Given the description of an element on the screen output the (x, y) to click on. 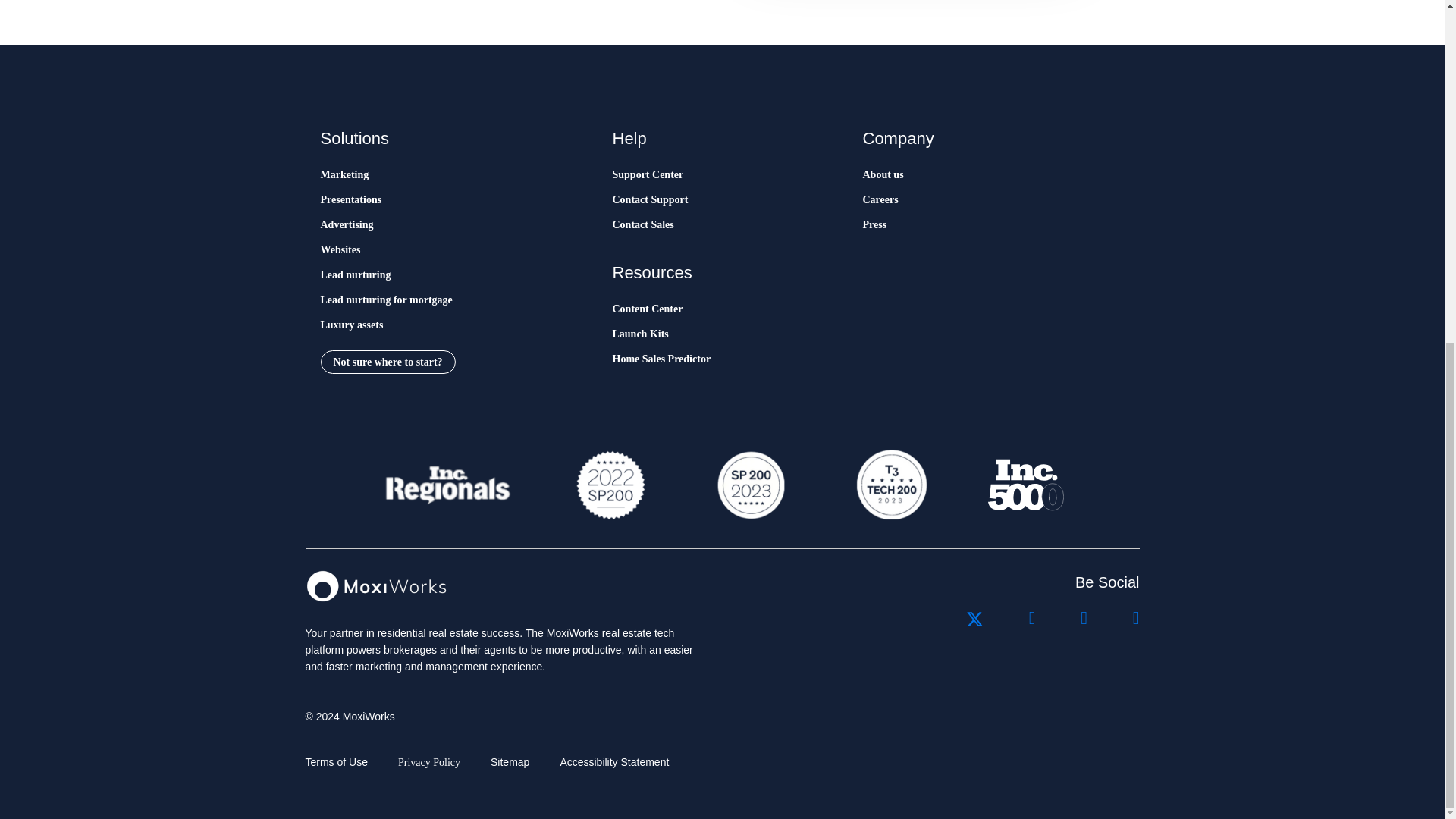
T3 tech 200 2023 (890, 484)
SP 2023 (749, 484)
SP 2022 (610, 484)
